Given the description of an element on the screen output the (x, y) to click on. 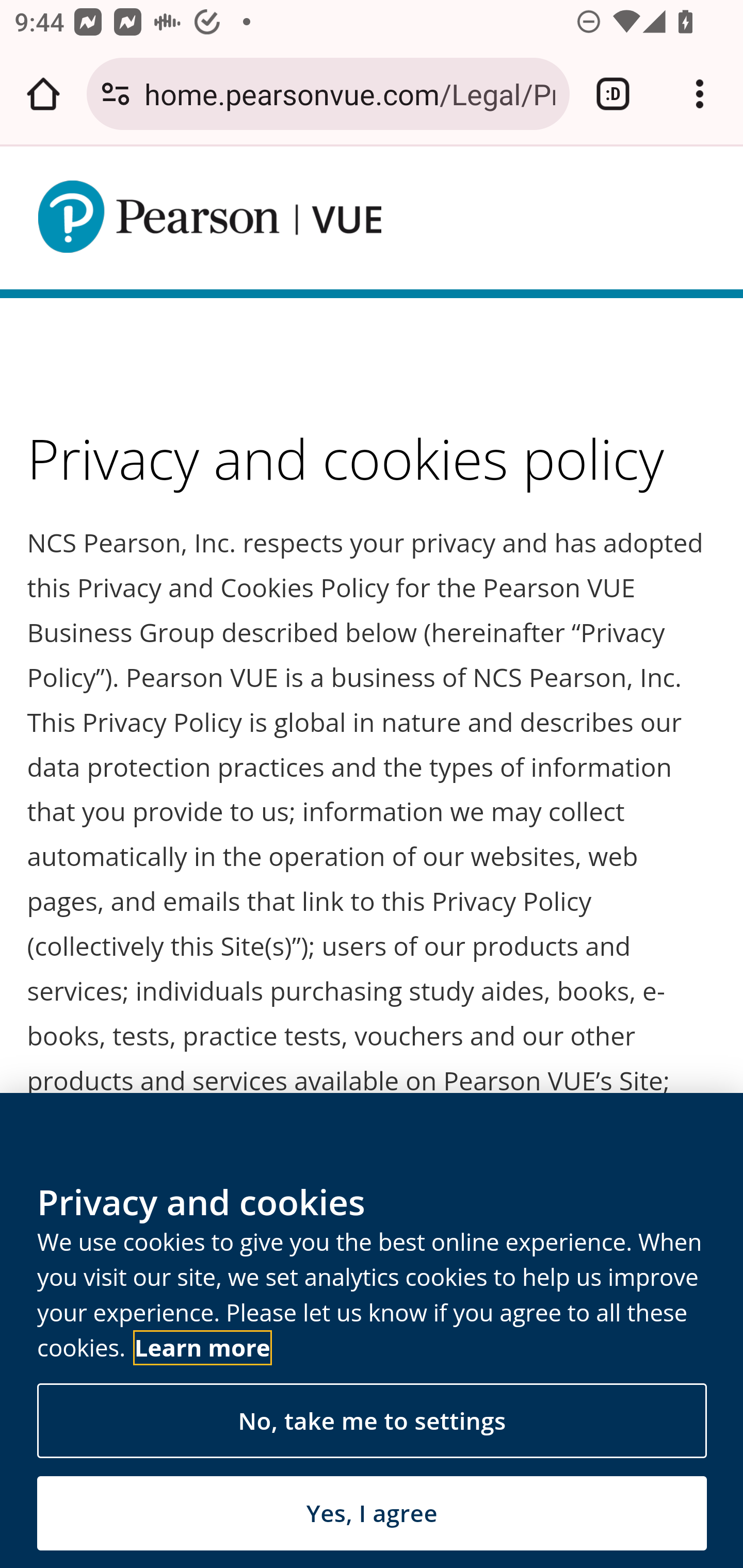
Open the home page (43, 93)
Connection is secure (115, 93)
Switch or close tabs (612, 93)
Customize and control Google Chrome (699, 93)
Pearson VUE (209, 217)
No, take me to settings (372, 1420)
Yes, I agree (372, 1512)
